Given the description of an element on the screen output the (x, y) to click on. 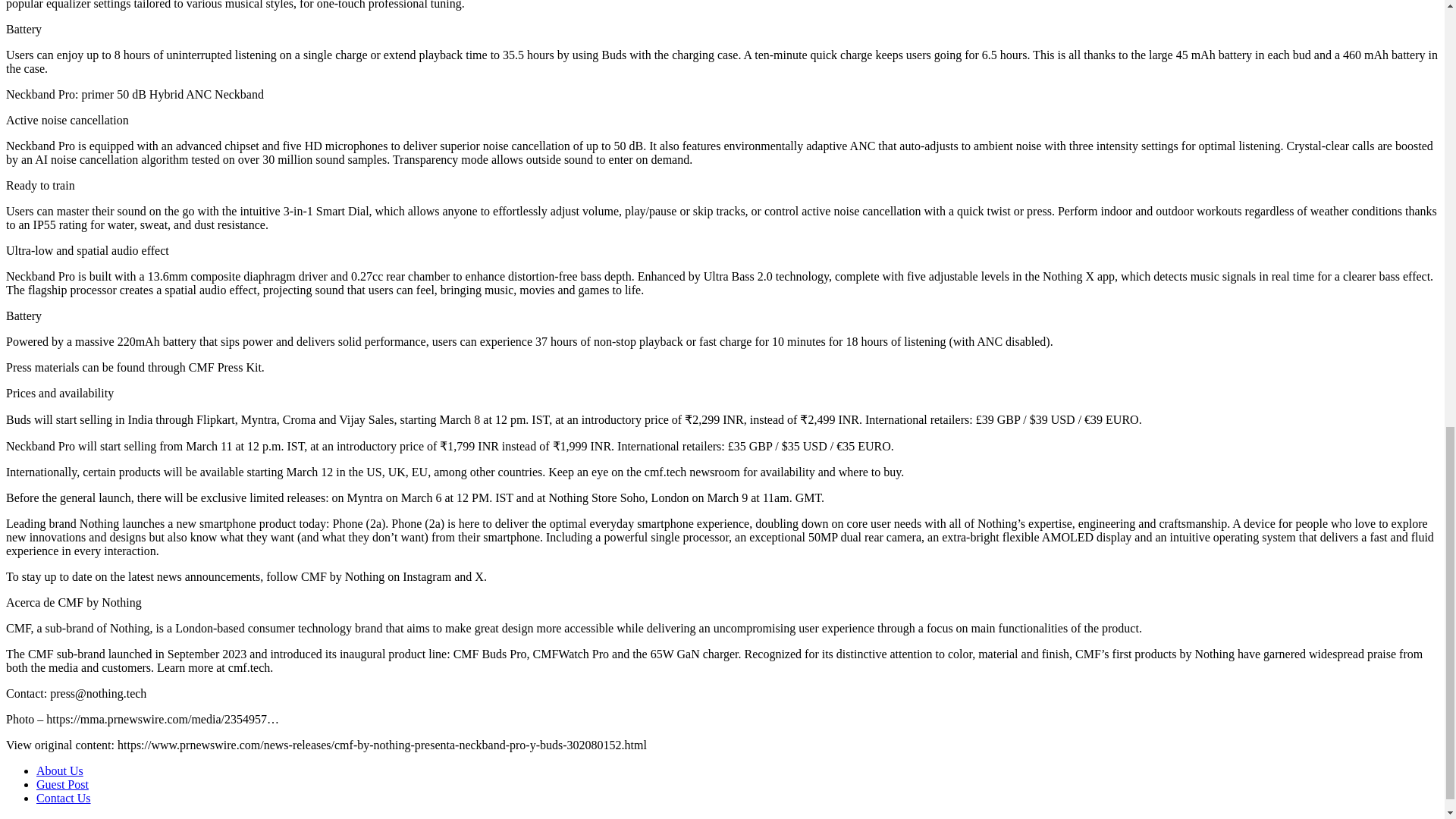
Contact Us (63, 797)
Guest Post (62, 784)
About Us (59, 770)
